Given the description of an element on the screen output the (x, y) to click on. 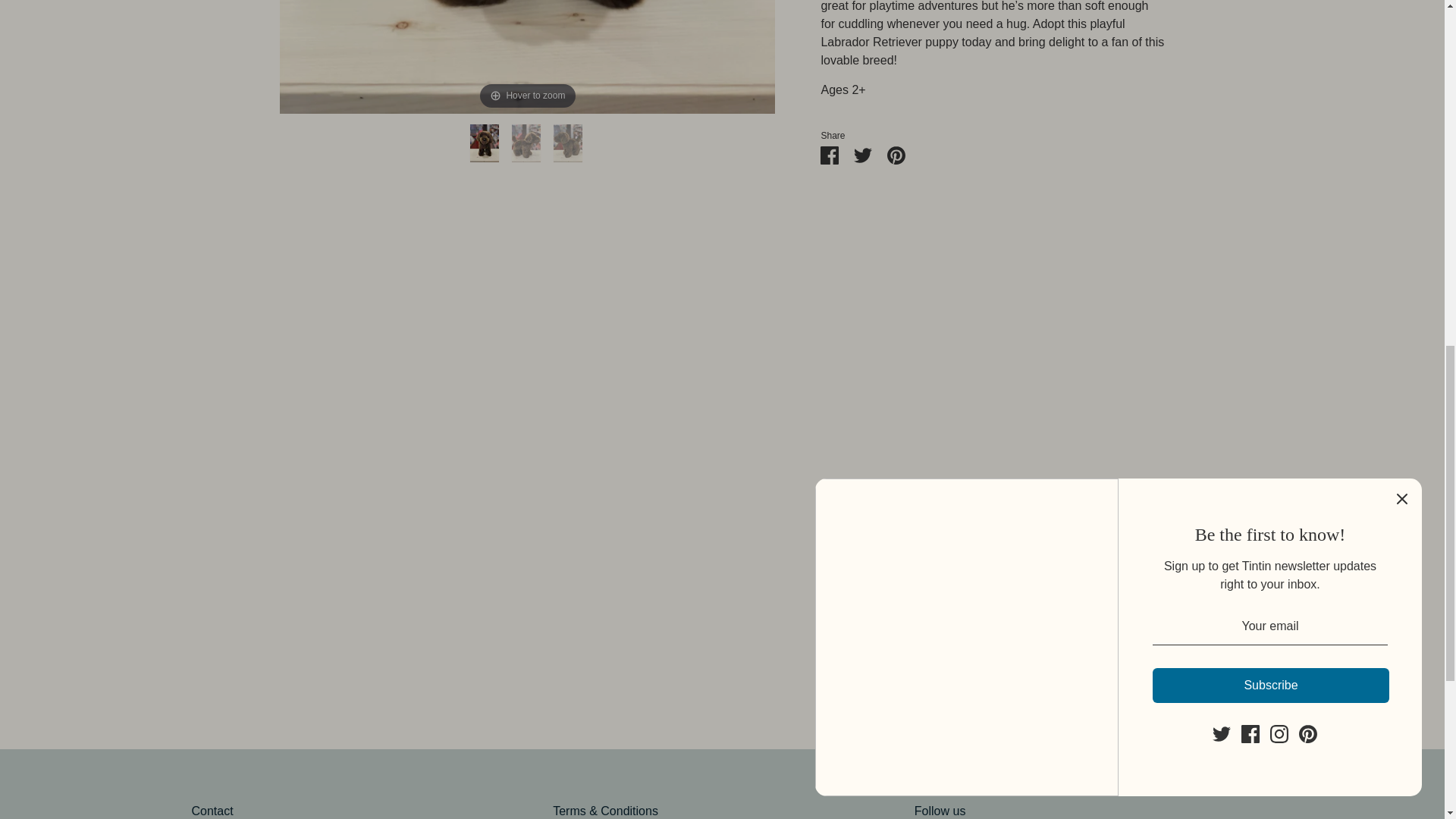
Douglas Tucker Chocolate Lab Plush 10" (486, 135)
Douglas Tucker Chocolate Lab Plush 10" (527, 135)
Douglas Tucker Chocolate Lab Plush 10" (569, 135)
